Given the description of an element on the screen output the (x, y) to click on. 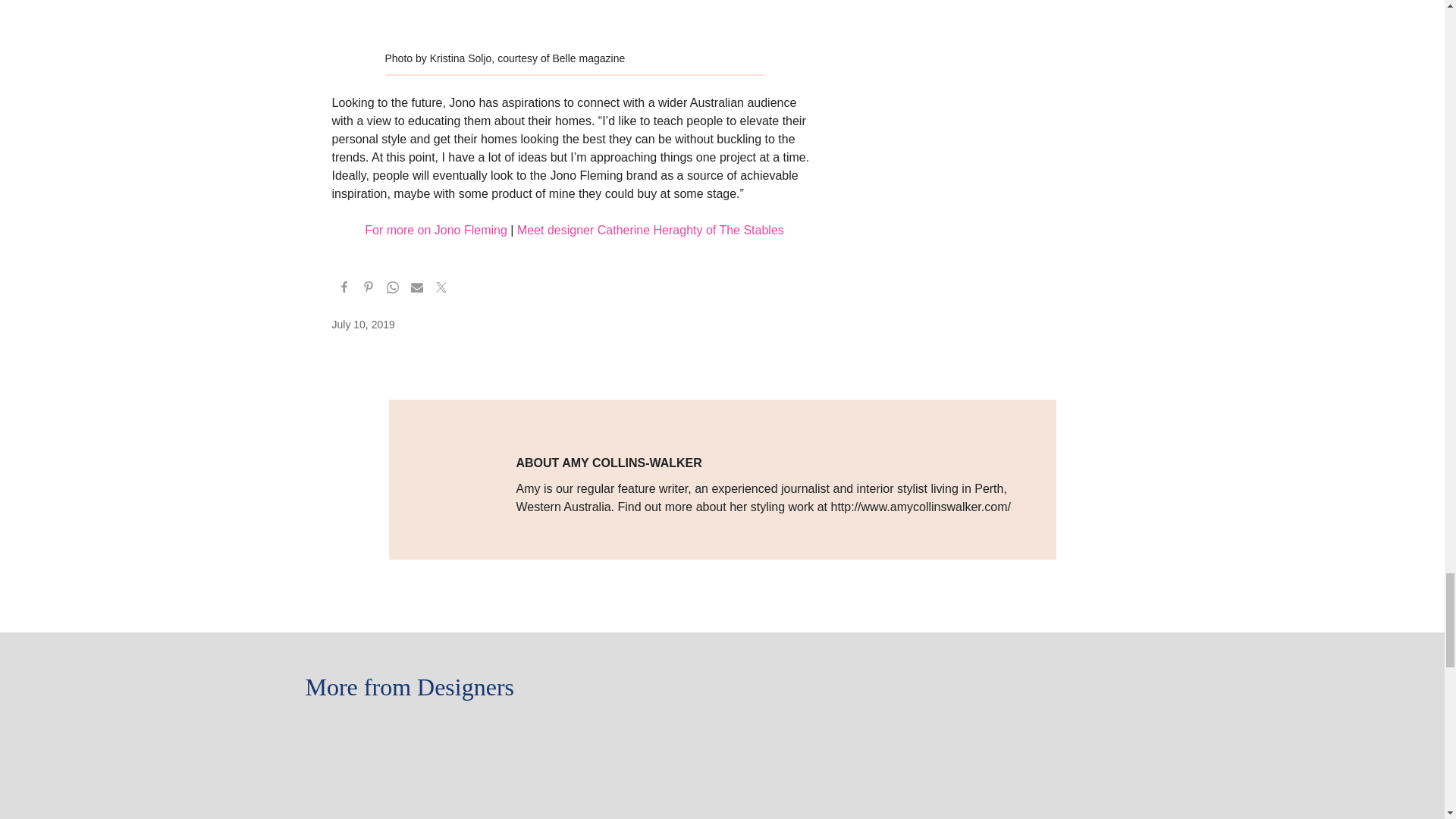
Tour this luxury Vaucluse home with lighthouse views (721, 731)
Share on Pinterest (368, 289)
Share on Facebook (343, 289)
Share via Email (416, 289)
Share on Twitter (440, 289)
